Given the description of an element on the screen output the (x, y) to click on. 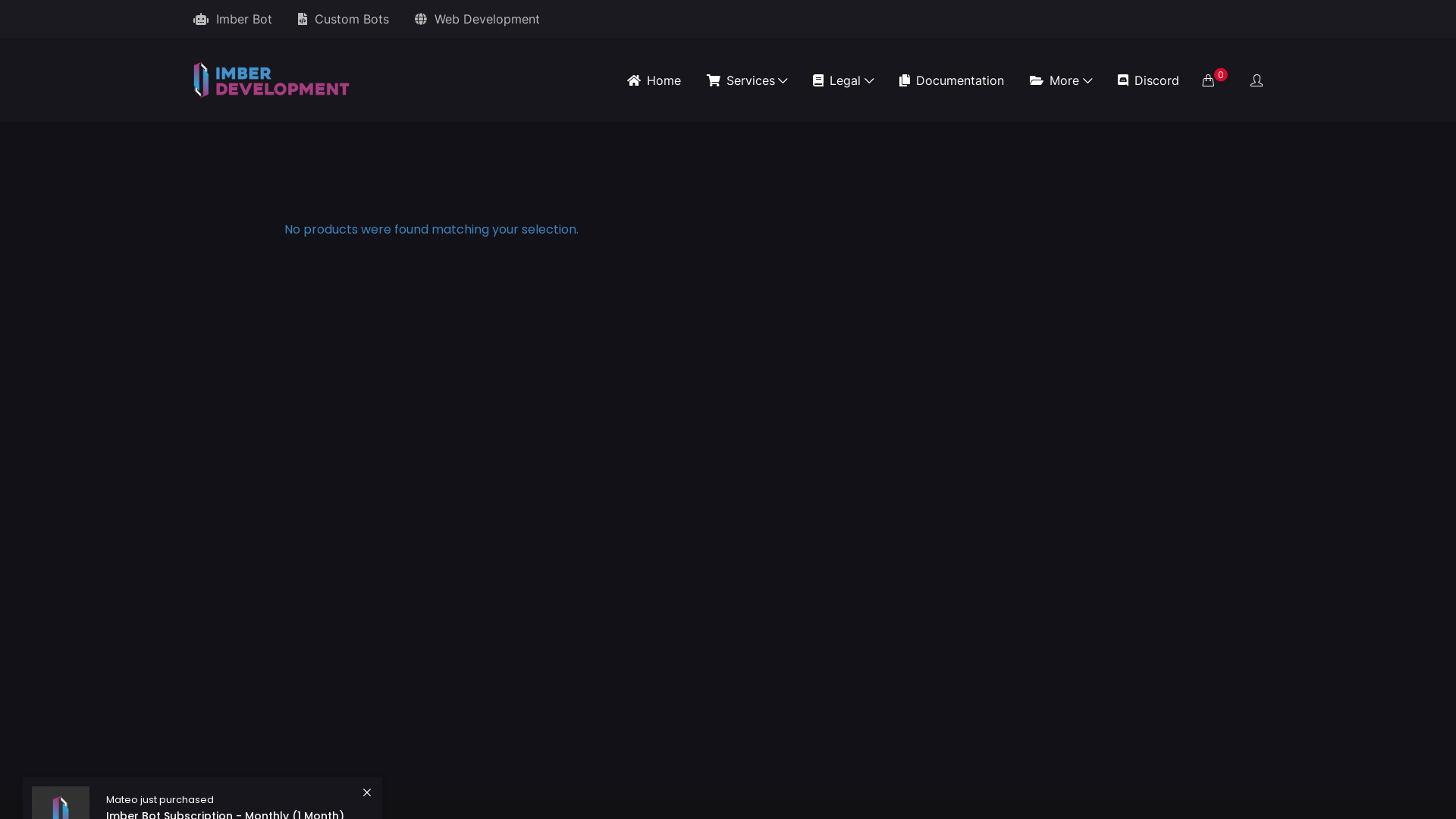
Documentation Element type: text (951, 80)
Web Development Element type: text (477, 18)
Services Element type: text (747, 80)
0 Element type: text (1214, 79)
More Element type: text (1060, 80)
Discord Element type: text (1148, 80)
Home Element type: text (653, 80)
Legal Element type: text (842, 80)
Imber Bot Element type: text (232, 18)
Custom Bots Element type: text (343, 18)
